Given the description of an element on the screen output the (x, y) to click on. 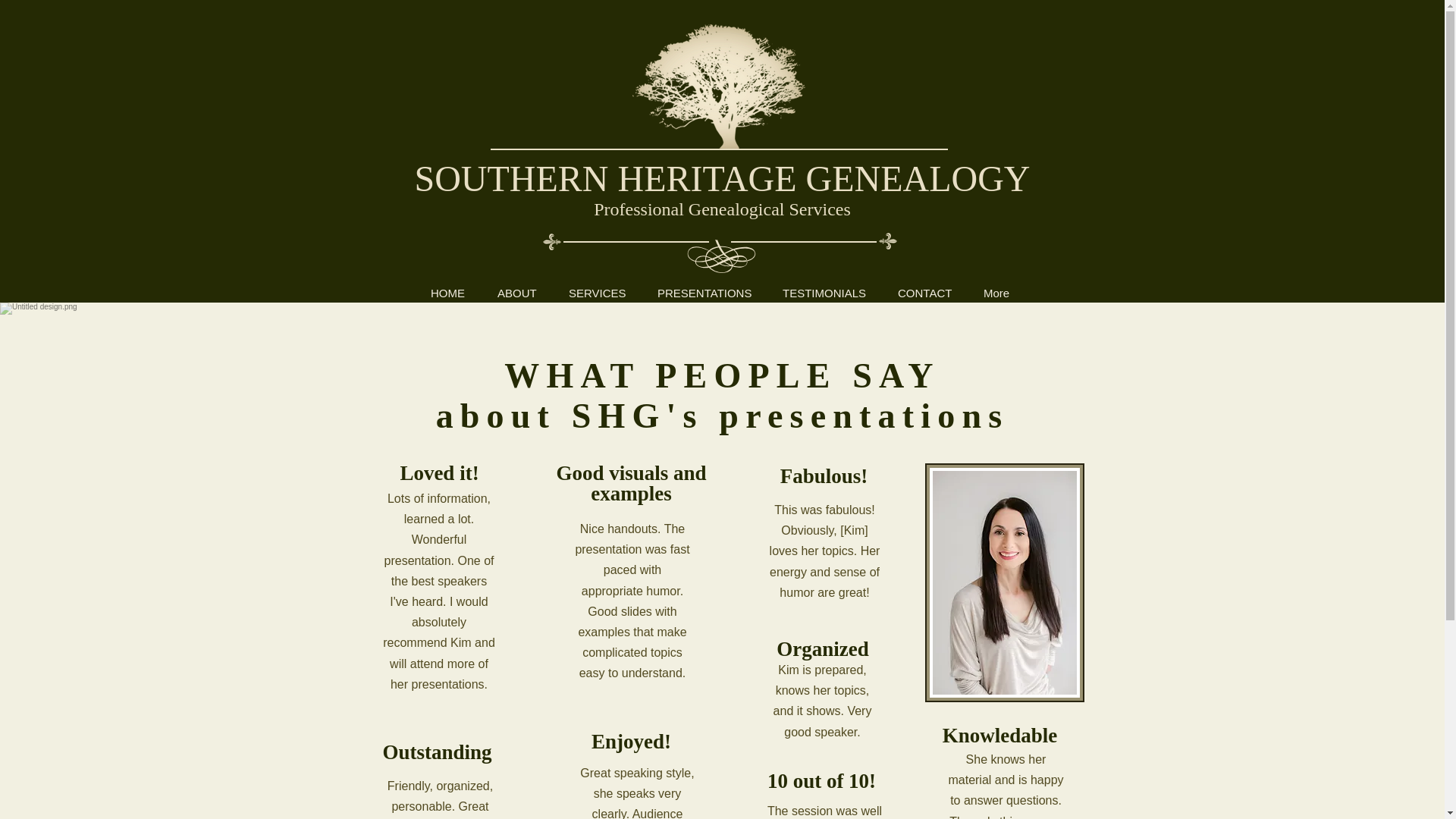
TESTIMONIALS (824, 292)
Professional Genealogical Services (722, 209)
PRESENTATIONS (704, 292)
CONTACT (925, 292)
SERVICES (597, 292)
SOUTHERN HERITAGE GENEALOGY (721, 178)
ABOUT (517, 292)
HOME (447, 292)
